Given the description of an element on the screen output the (x, y) to click on. 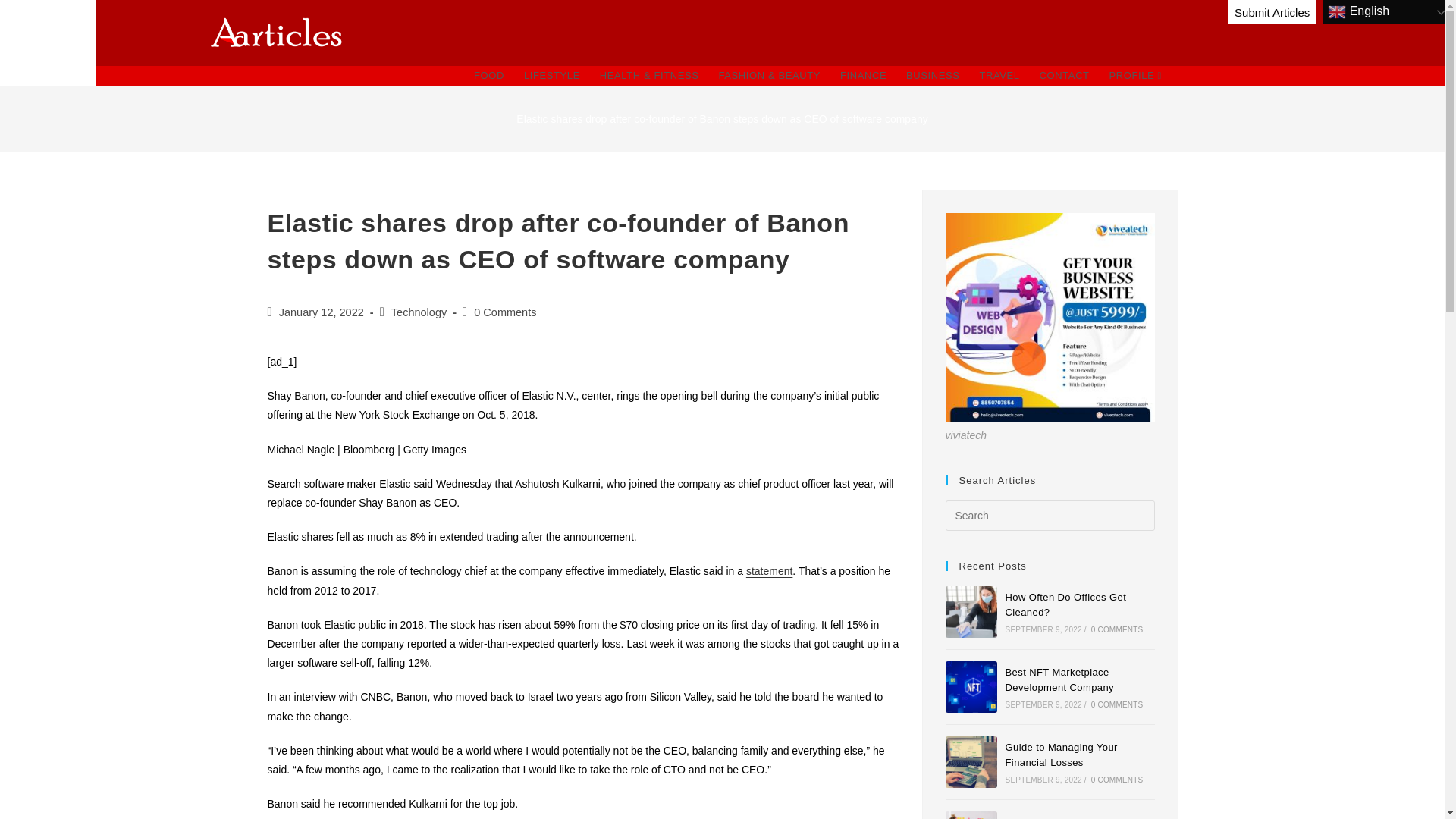
FOOD (488, 75)
LIFESTYLE (551, 75)
BUSINESS (933, 75)
FINANCE (863, 75)
Submit Articles (1272, 12)
TRAVEL (999, 75)
PROFILE (1135, 75)
English (1388, 12)
CONTACT (1063, 75)
